Given the description of an element on the screen output the (x, y) to click on. 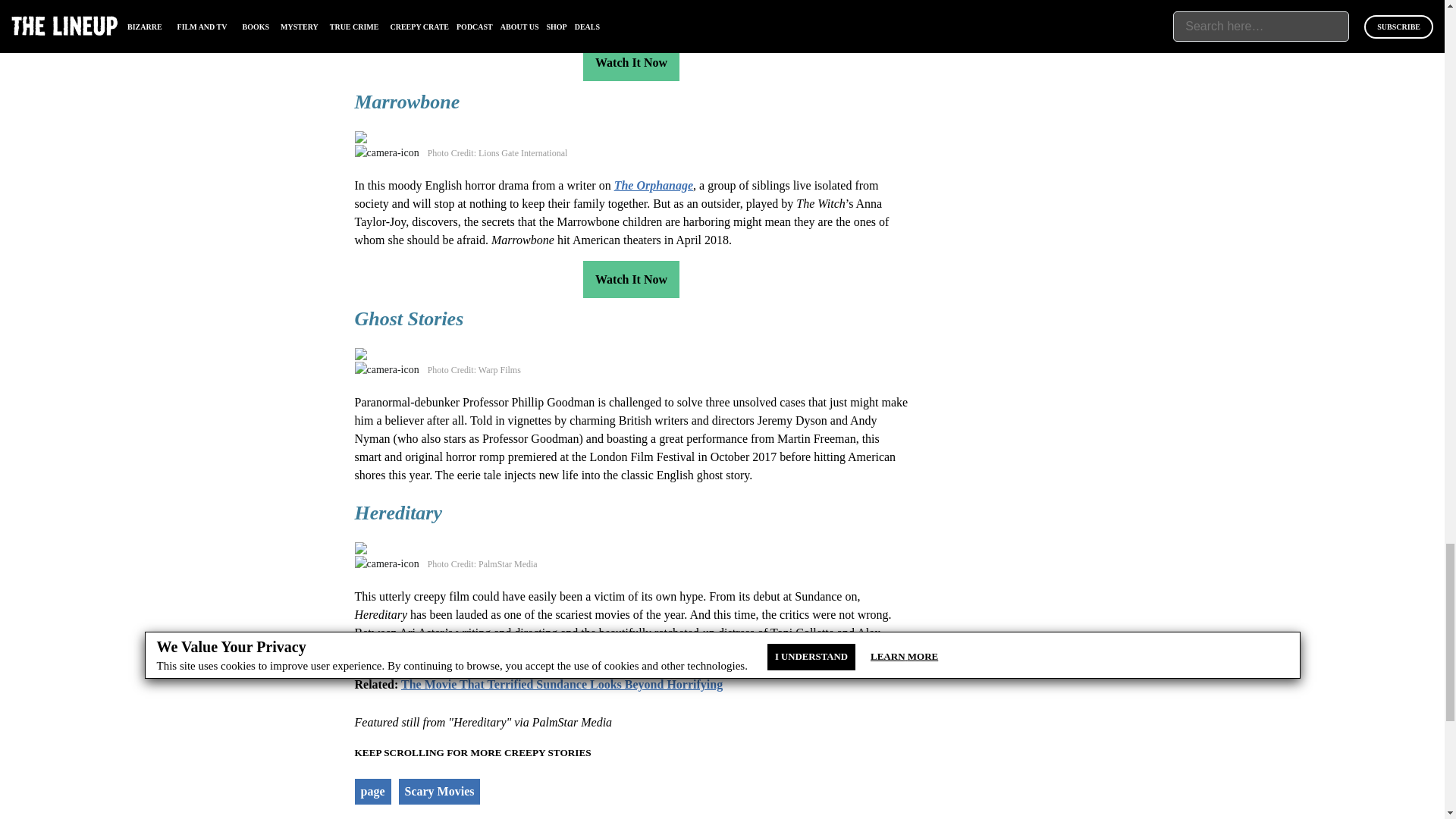
marrowbone (419, 137)
hereditary (419, 549)
Ghost Stories (419, 354)
